Given the description of an element on the screen output the (x, y) to click on. 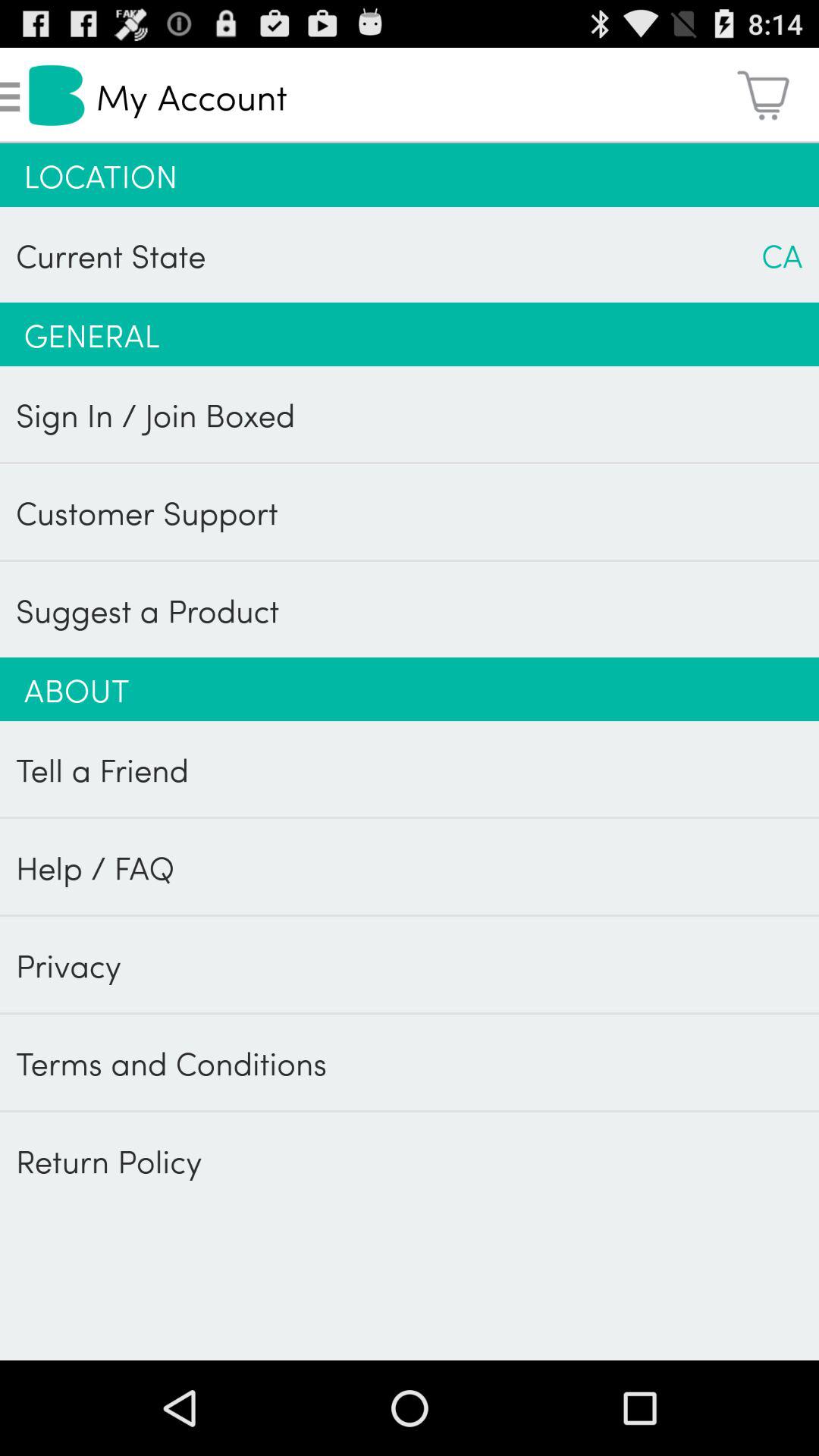
turn on icon above current state app (409, 175)
